Given the description of an element on the screen output the (x, y) to click on. 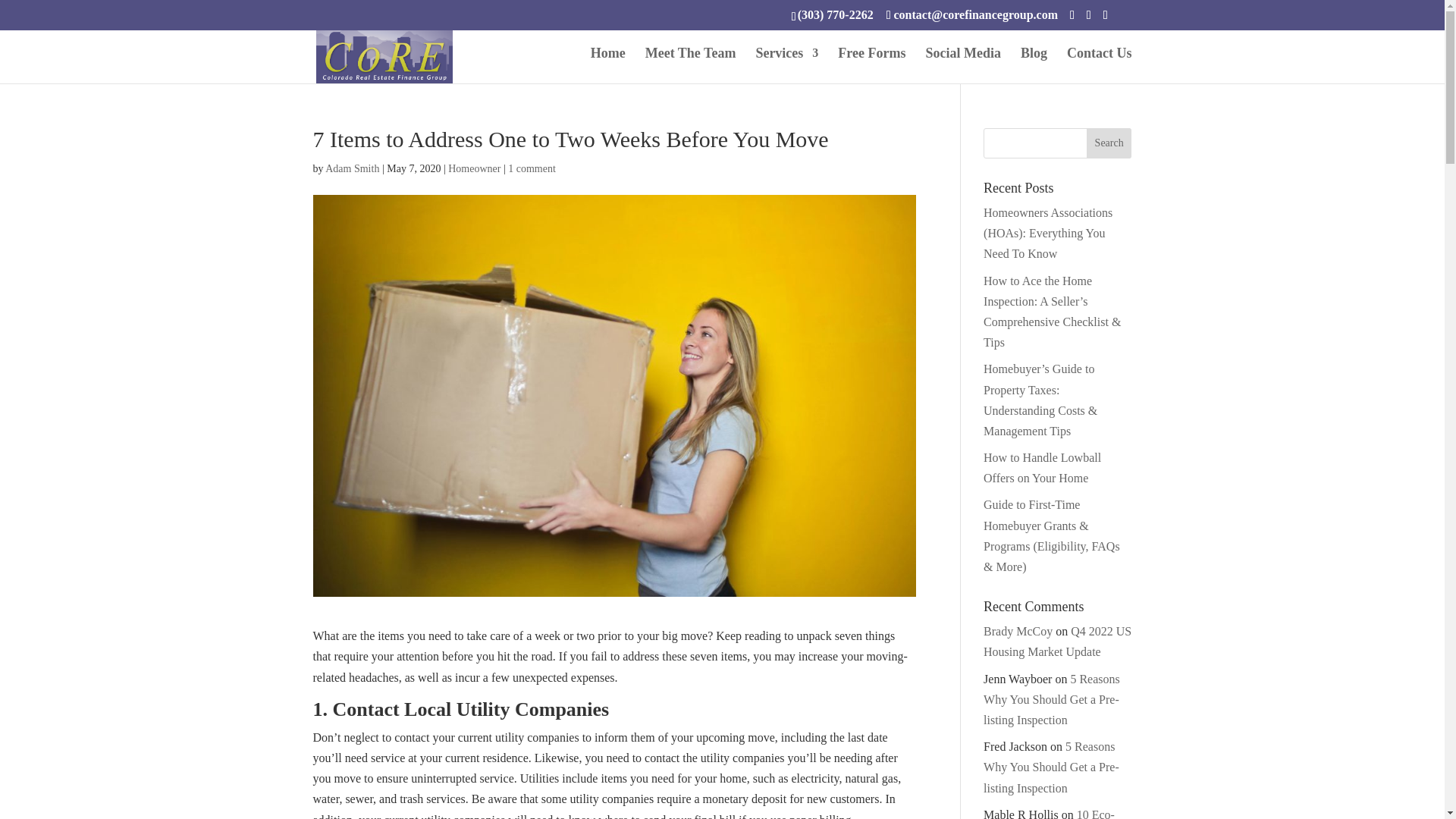
Posts by Adam Smith (351, 168)
Homeowner (474, 168)
Adam Smith (351, 168)
Home (608, 65)
Meet The Team (690, 65)
Contact Us (1099, 65)
Search (1109, 142)
Social Media (962, 65)
1 comment (532, 168)
Services (786, 65)
